Given the description of an element on the screen output the (x, y) to click on. 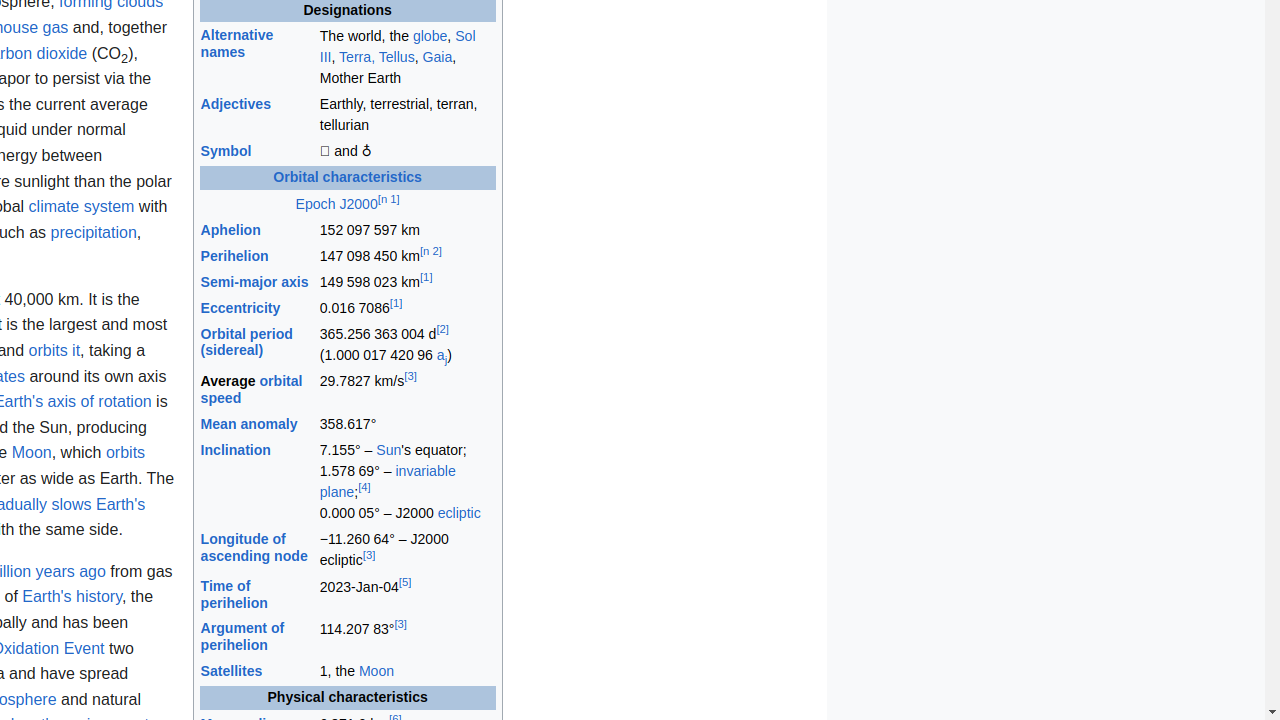
0.0167086[1] Element type: table-cell (407, 309)
ecliptic Element type: link (459, 513)
Gaia Element type: link (437, 56)
Semi-major axis Element type: link (254, 281)
orbits Element type: link (125, 453)
